Given the description of an element on the screen output the (x, y) to click on. 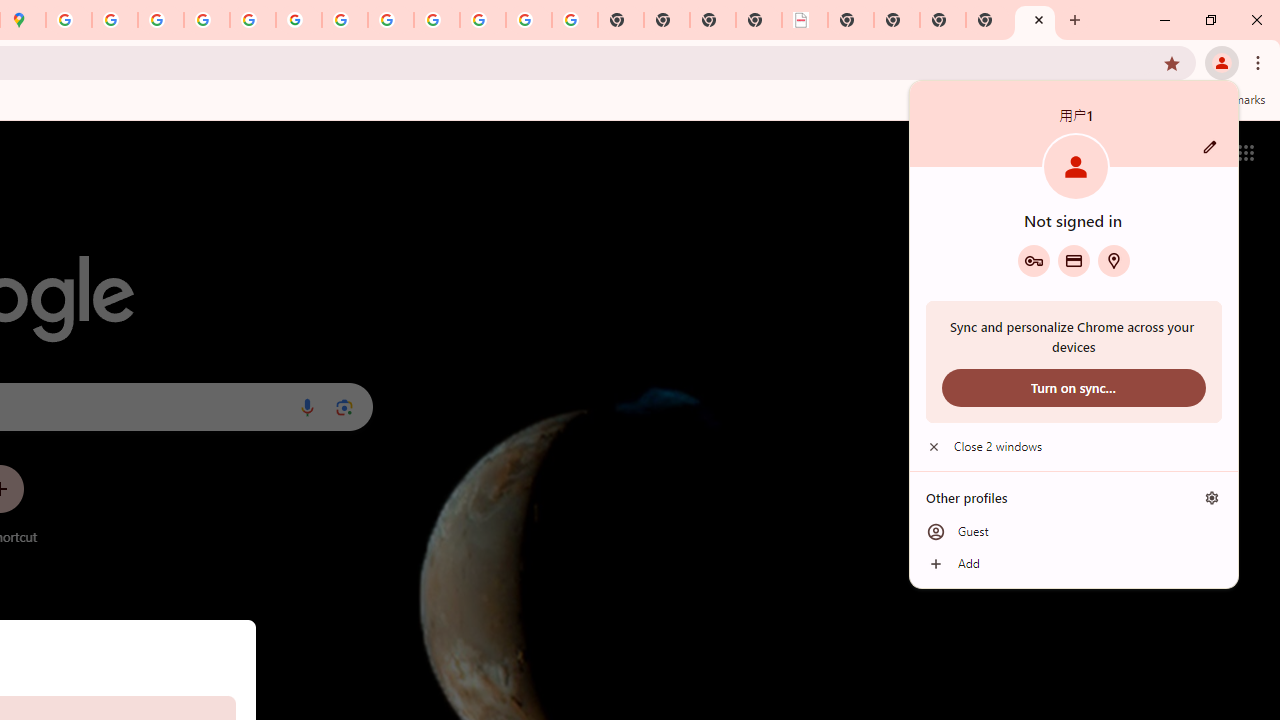
Add (1073, 563)
Privacy Help Center - Policies Help (207, 20)
Addresses and more (1114, 260)
Manage profiles (1211, 498)
LAAD Defence & Security 2025 | BAE Systems (805, 20)
Sign in - Google Accounts (69, 20)
New Tab (1035, 20)
Customize profile (1210, 147)
